Given the description of an element on the screen output the (x, y) to click on. 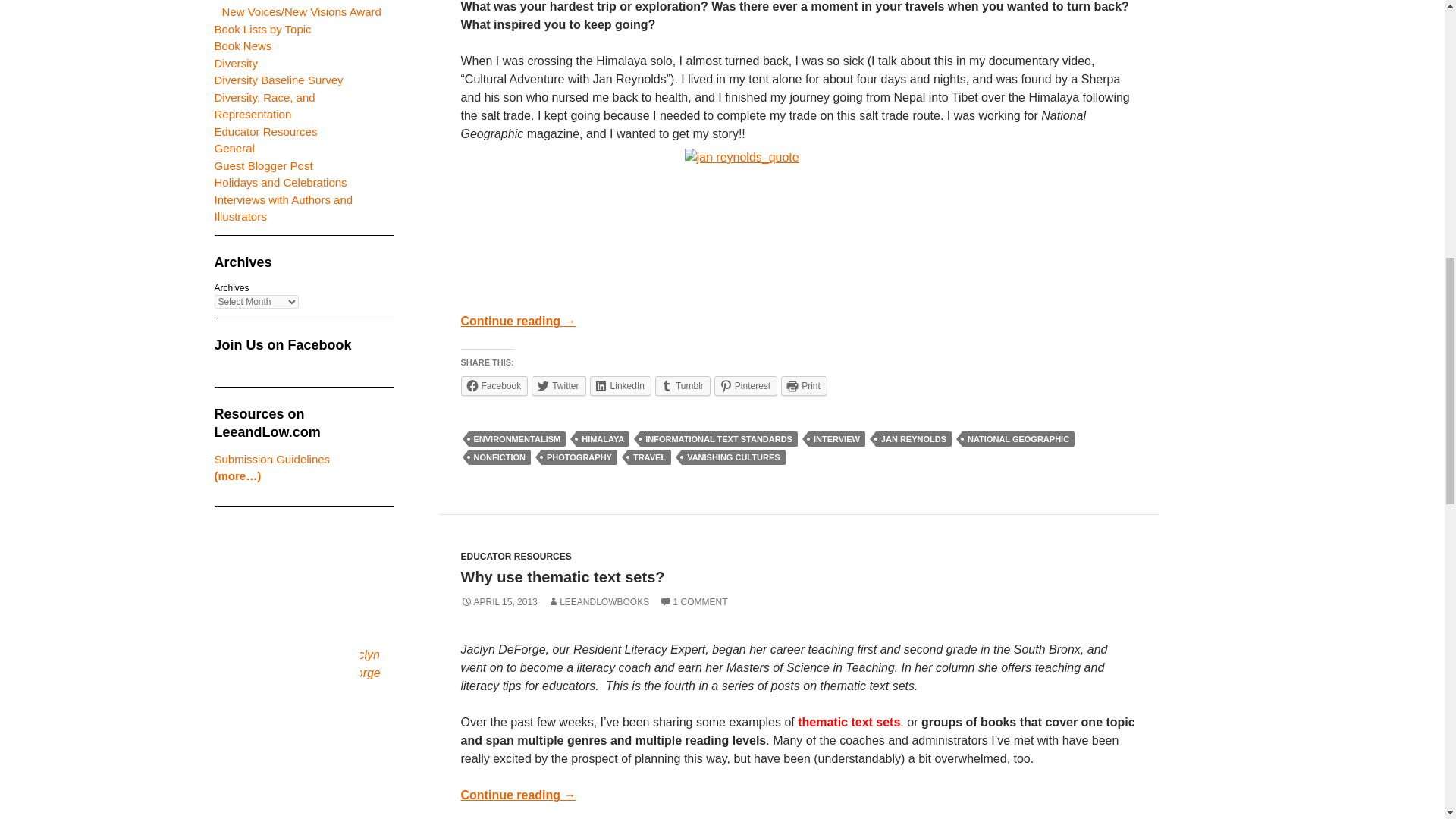
APRIL 15, 2013 (499, 602)
LEEANDLOWBOOKS (598, 602)
Click to share on Pinterest (745, 385)
Click to share on LinkedIn (619, 385)
EDUCATOR RESOURCES (516, 556)
Click to share on Twitter (558, 385)
Why use thematic text sets? (563, 576)
PHOTOGRAPHY (579, 457)
Facebook (494, 385)
Click to share on Tumblr (682, 385)
